Given the description of an element on the screen output the (x, y) to click on. 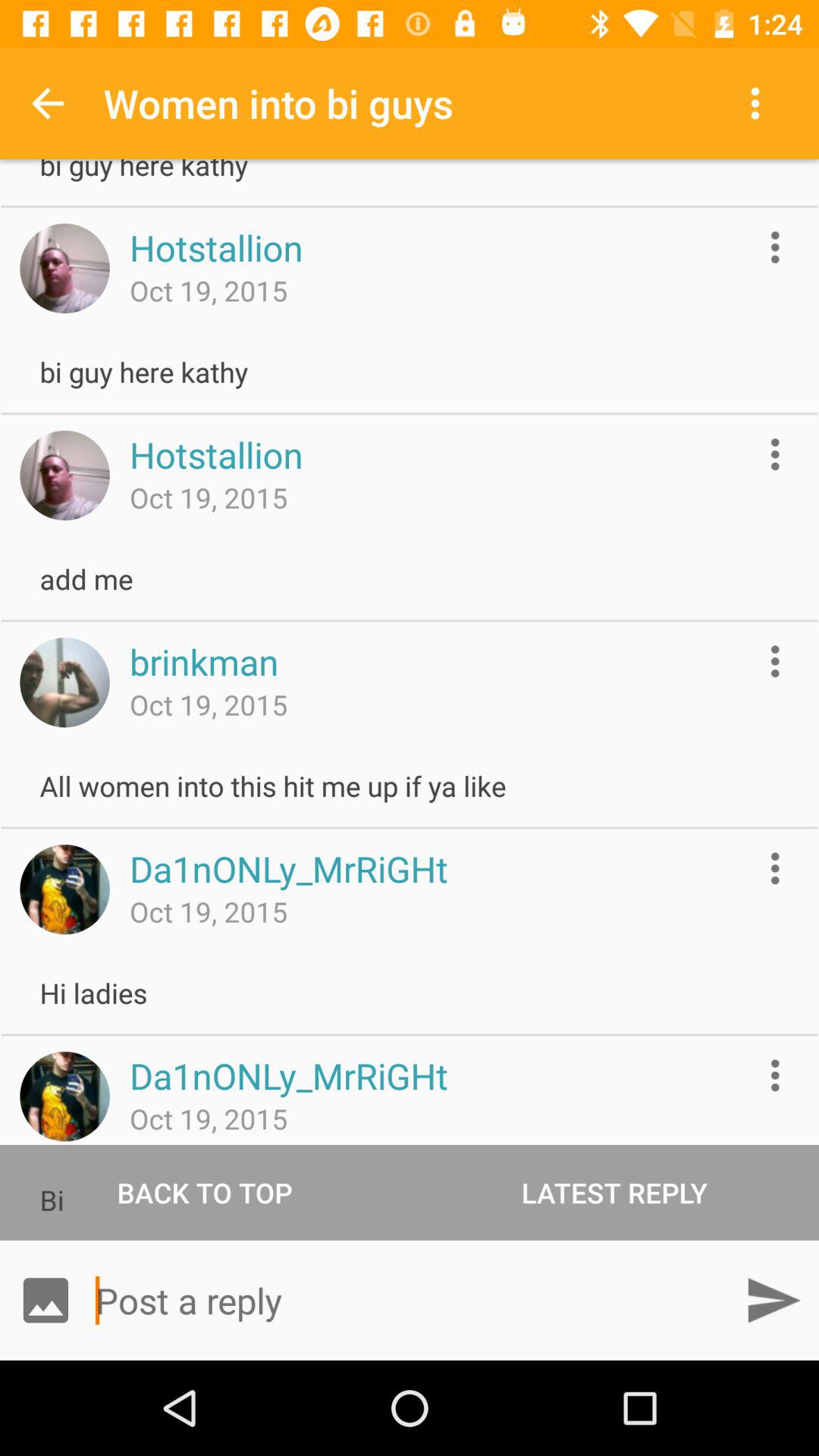
select back to top item (204, 1192)
